Given the description of an element on the screen output the (x, y) to click on. 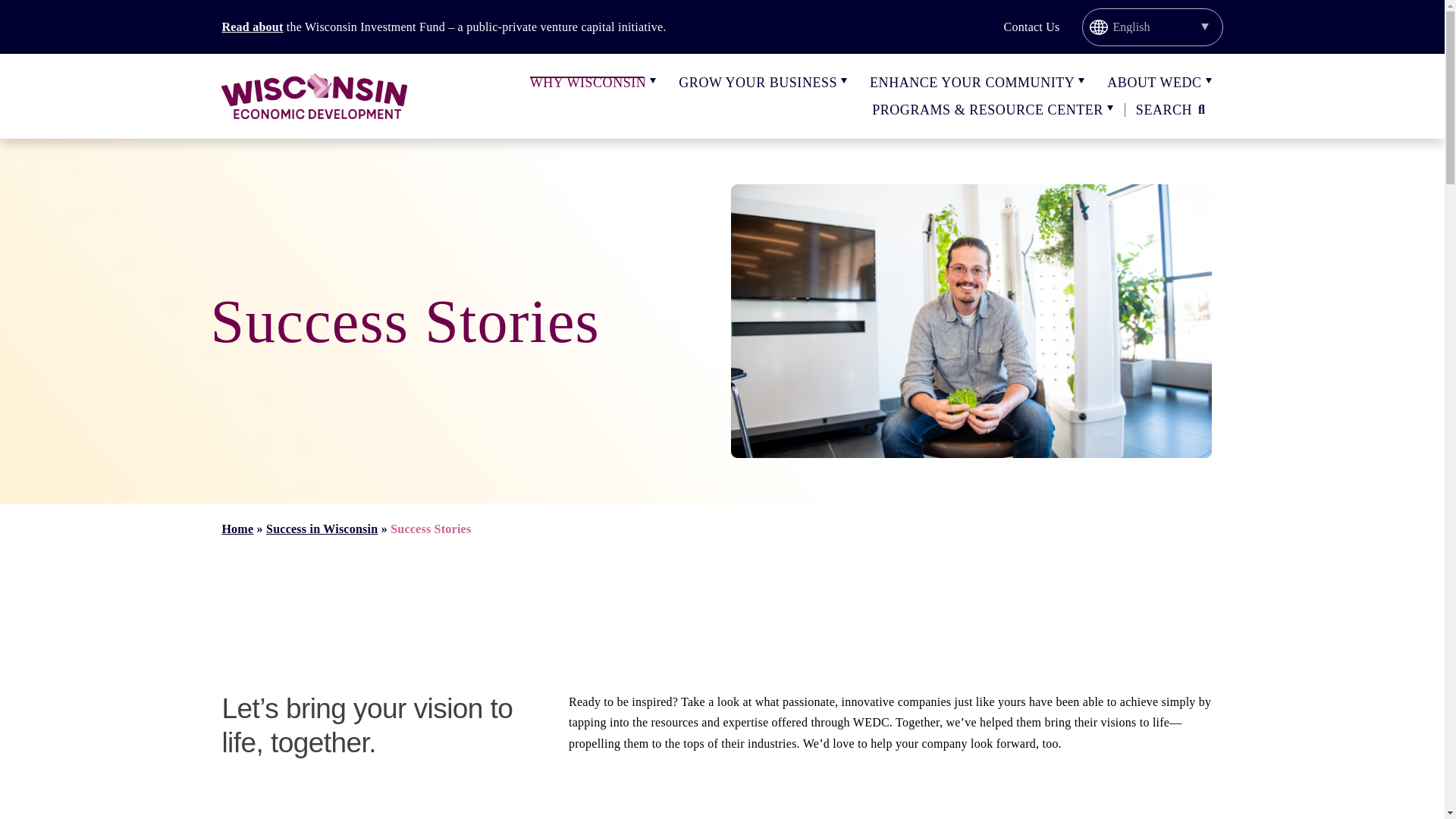
Contact Us (1031, 26)
Why Wisconsin (587, 82)
Read about (251, 26)
Contact Us (1031, 26)
Wisconsin Investment Fund. (251, 26)
Search (1173, 109)
WHY WISCONSIN (587, 82)
